Given the description of an element on the screen output the (x, y) to click on. 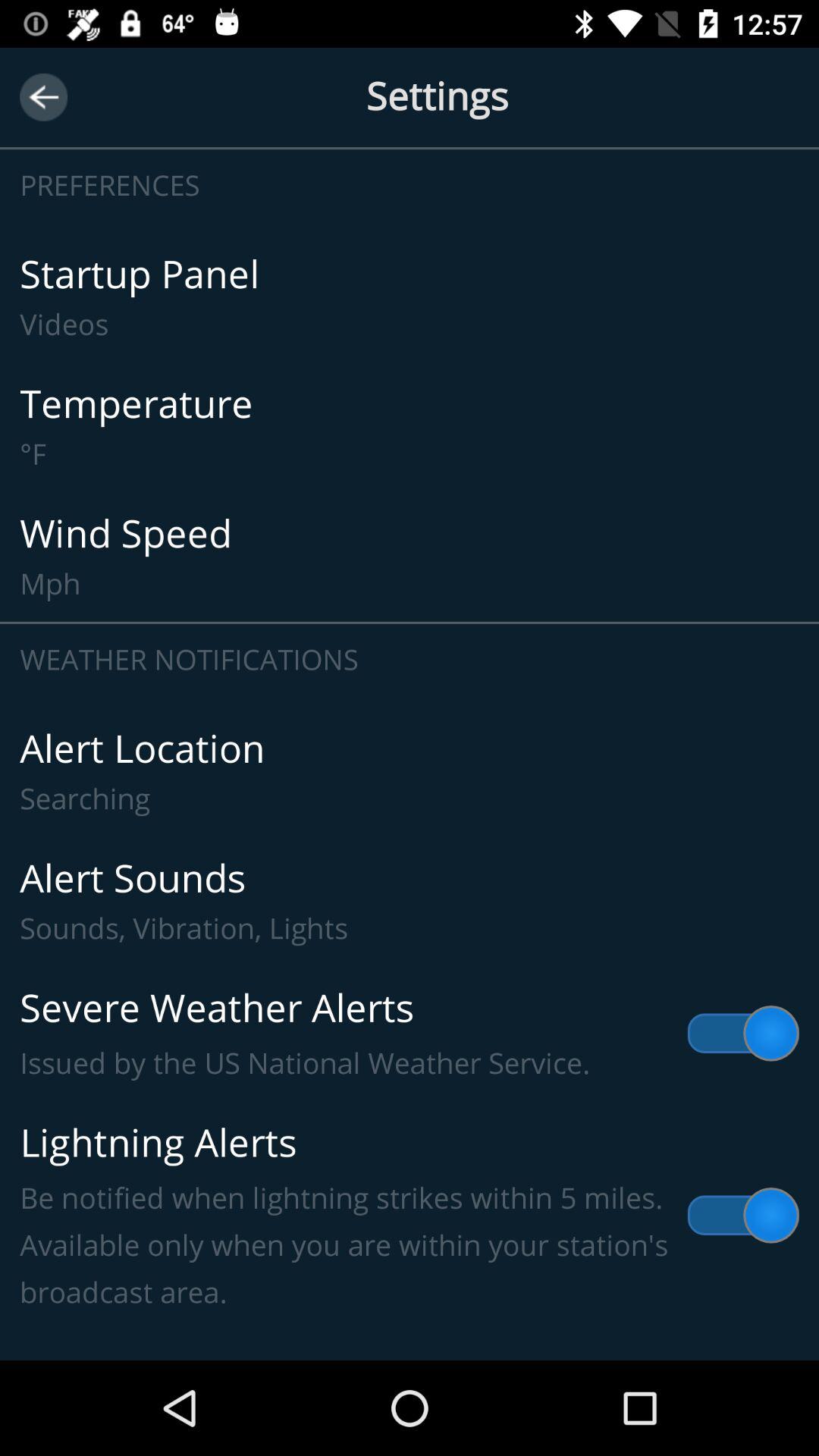
turn off icon below the weather notifications (409, 771)
